Given the description of an element on the screen output the (x, y) to click on. 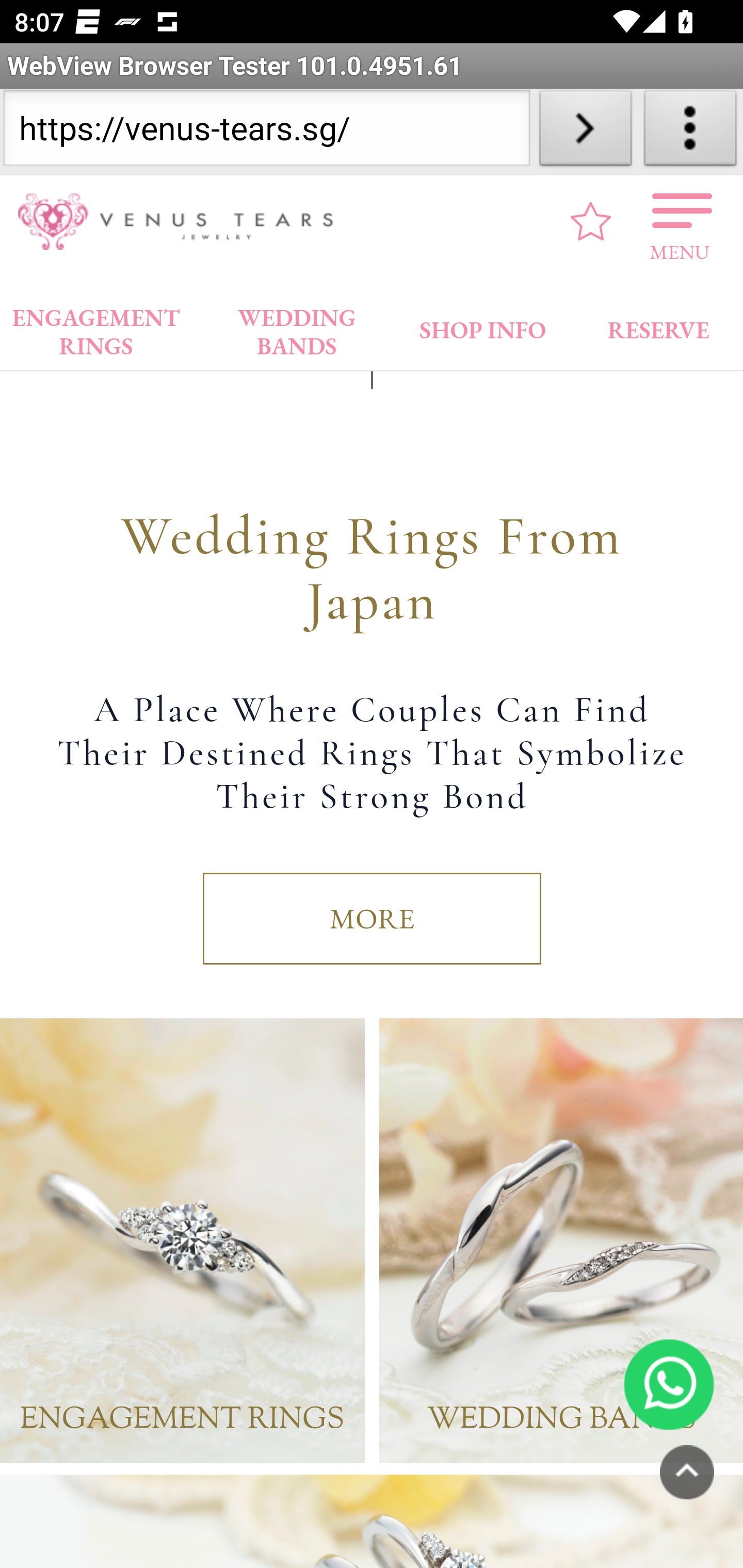
https://venus-tears.sg/ (266, 132)
Load URL (585, 132)
About WebView (690, 132)
favourite (591, 223)
MENU (680, 223)
VENUS TEARS (181, 223)
ENGAGEMENT RINGS ENGAGEMENT RINGS (96, 328)
WEDDING BANDS WEDDING BANDS (296, 328)
SHOP INFO (482, 327)
RESERVE (657, 327)
MORE (371, 920)
ENGAGEMENT RINGS (183, 1241)
WEDDING BANDS (560, 1241)
6585184875 (668, 1385)
PAGETOP (686, 1473)
